Given the description of an element on the screen output the (x, y) to click on. 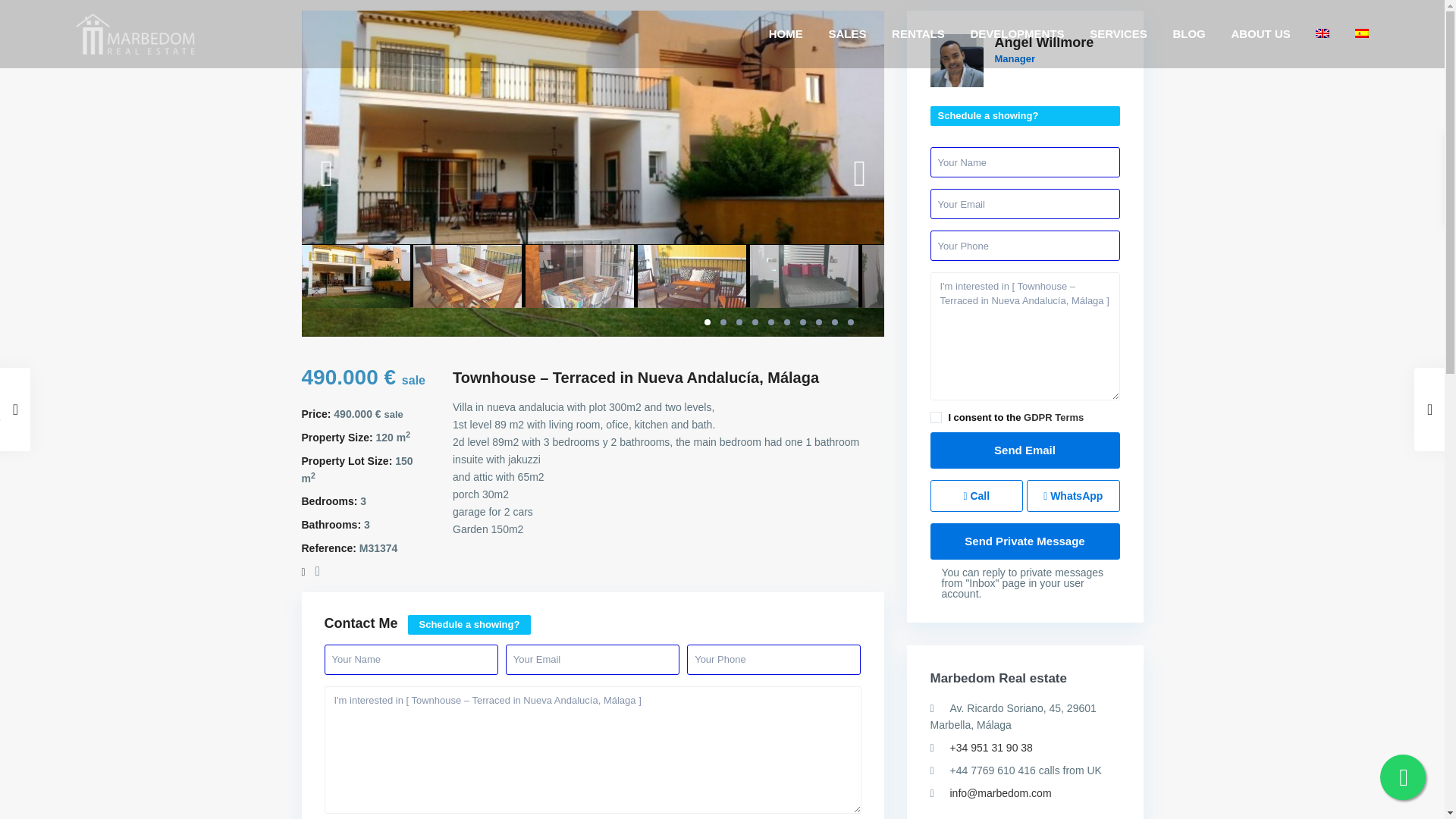
RENTALS (918, 33)
Send Private Message (1024, 541)
New developments  (1016, 33)
Rentals in Marbella (918, 33)
Send Email (1024, 450)
on (935, 416)
